Given the description of an element on the screen output the (x, y) to click on. 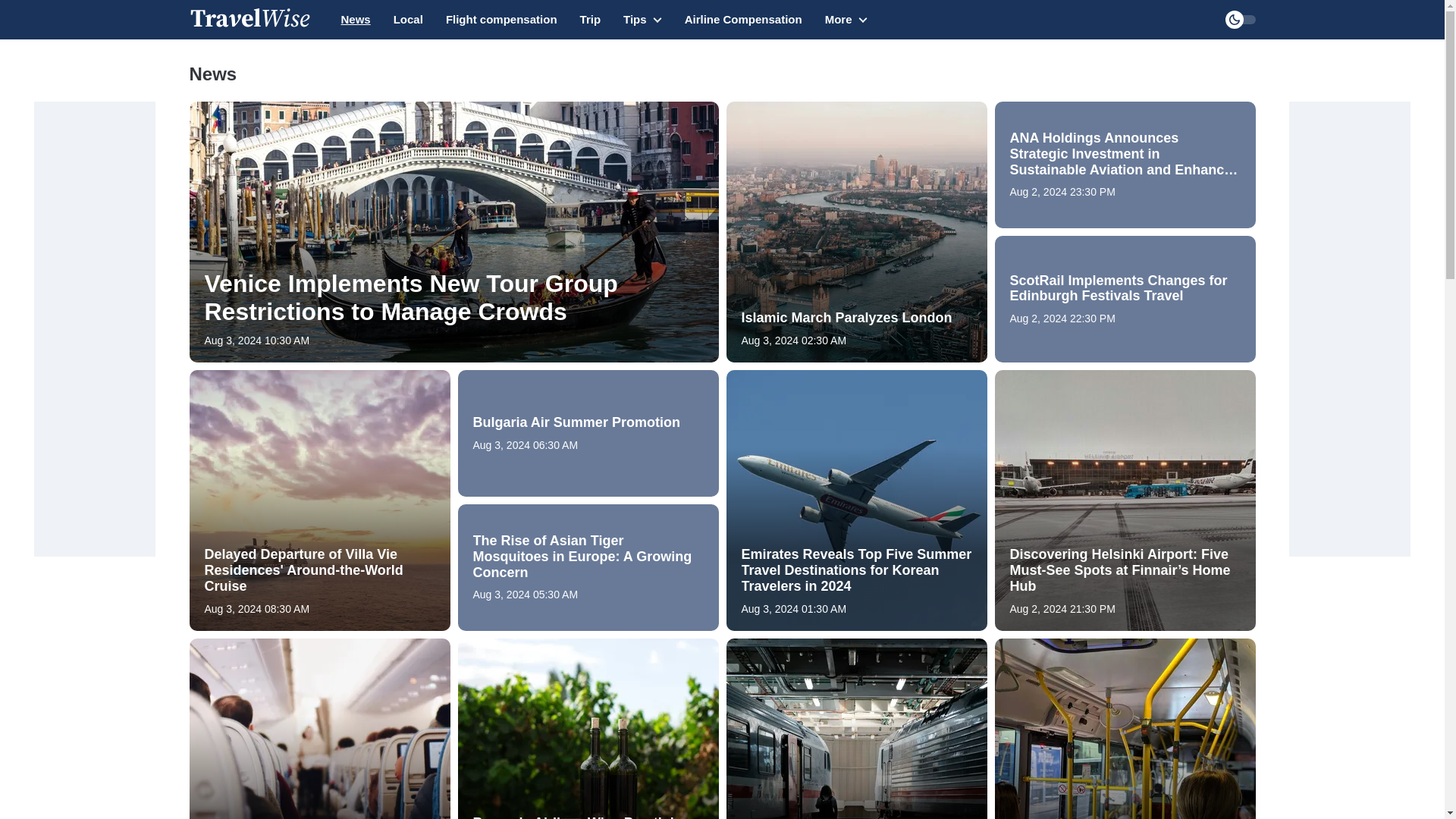
News (355, 19)
Flight compensation (501, 19)
Airline Compensation (743, 19)
Trip (590, 19)
Local (408, 19)
Tips (642, 27)
